Given the description of an element on the screen output the (x, y) to click on. 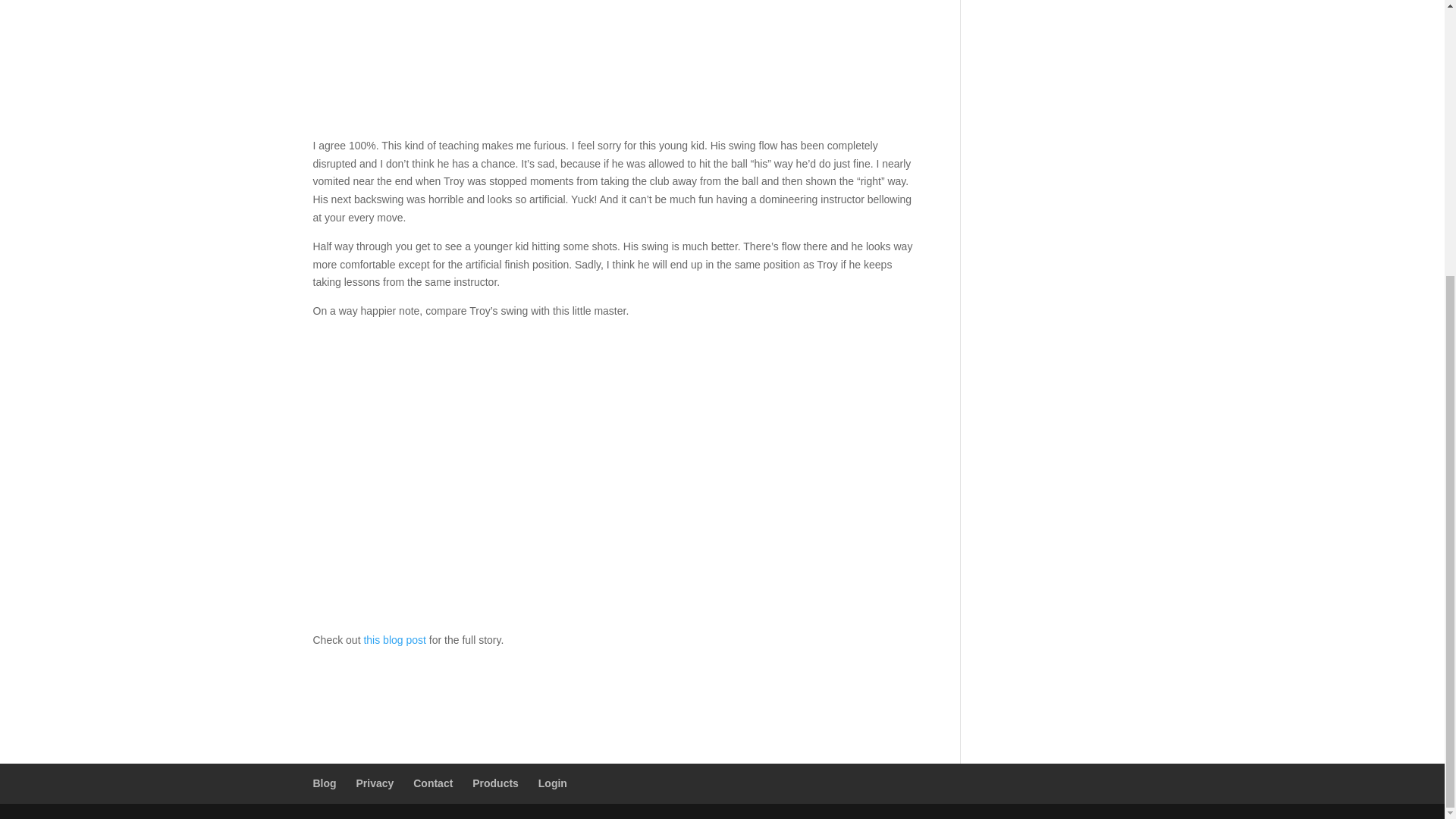
Products (494, 783)
Blog (324, 783)
Contact (432, 783)
Privacy (375, 783)
Login (552, 783)
this blog post (394, 639)
